Given the description of an element on the screen output the (x, y) to click on. 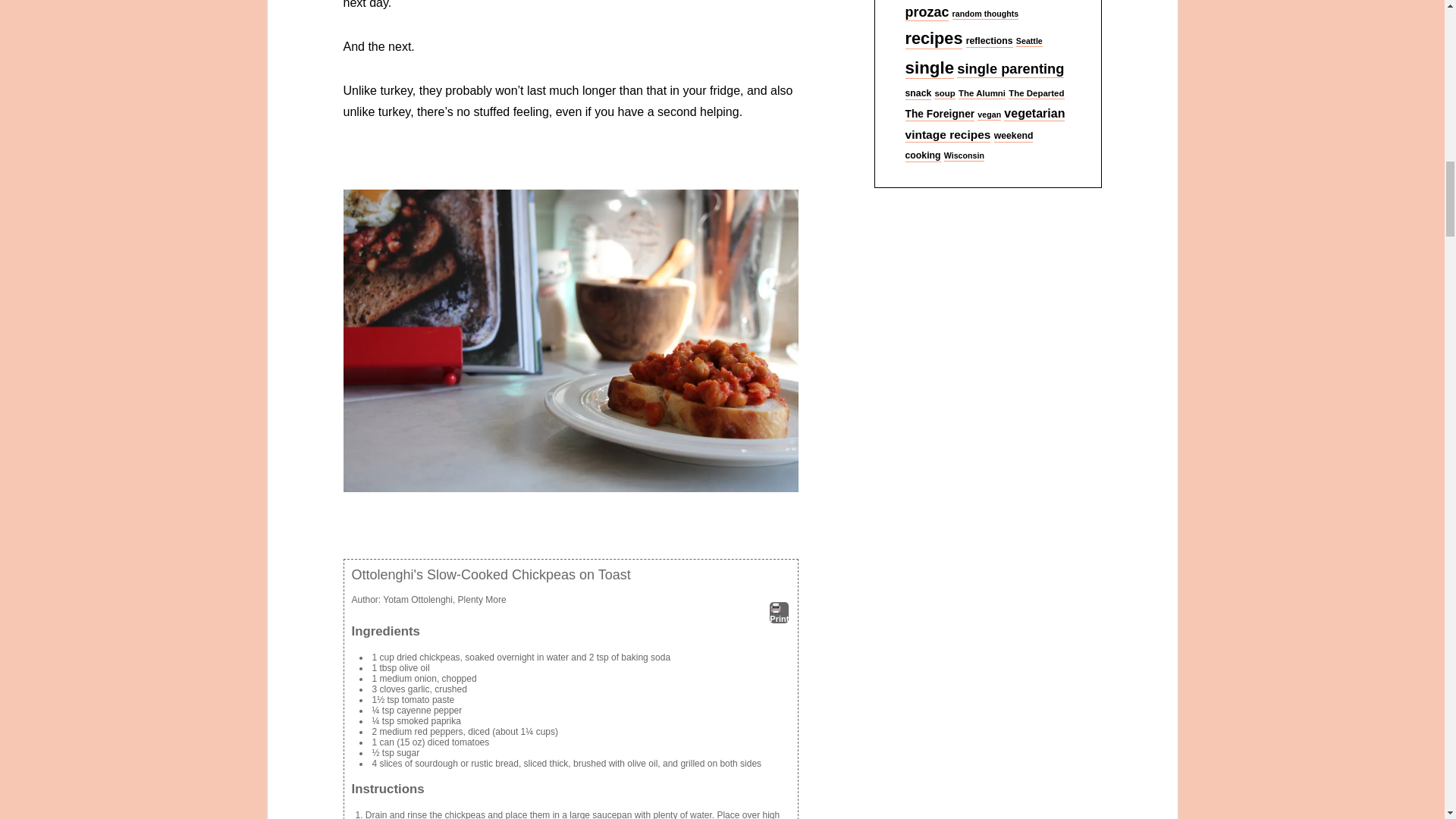
Print (779, 612)
